Given the description of an element on the screen output the (x, y) to click on. 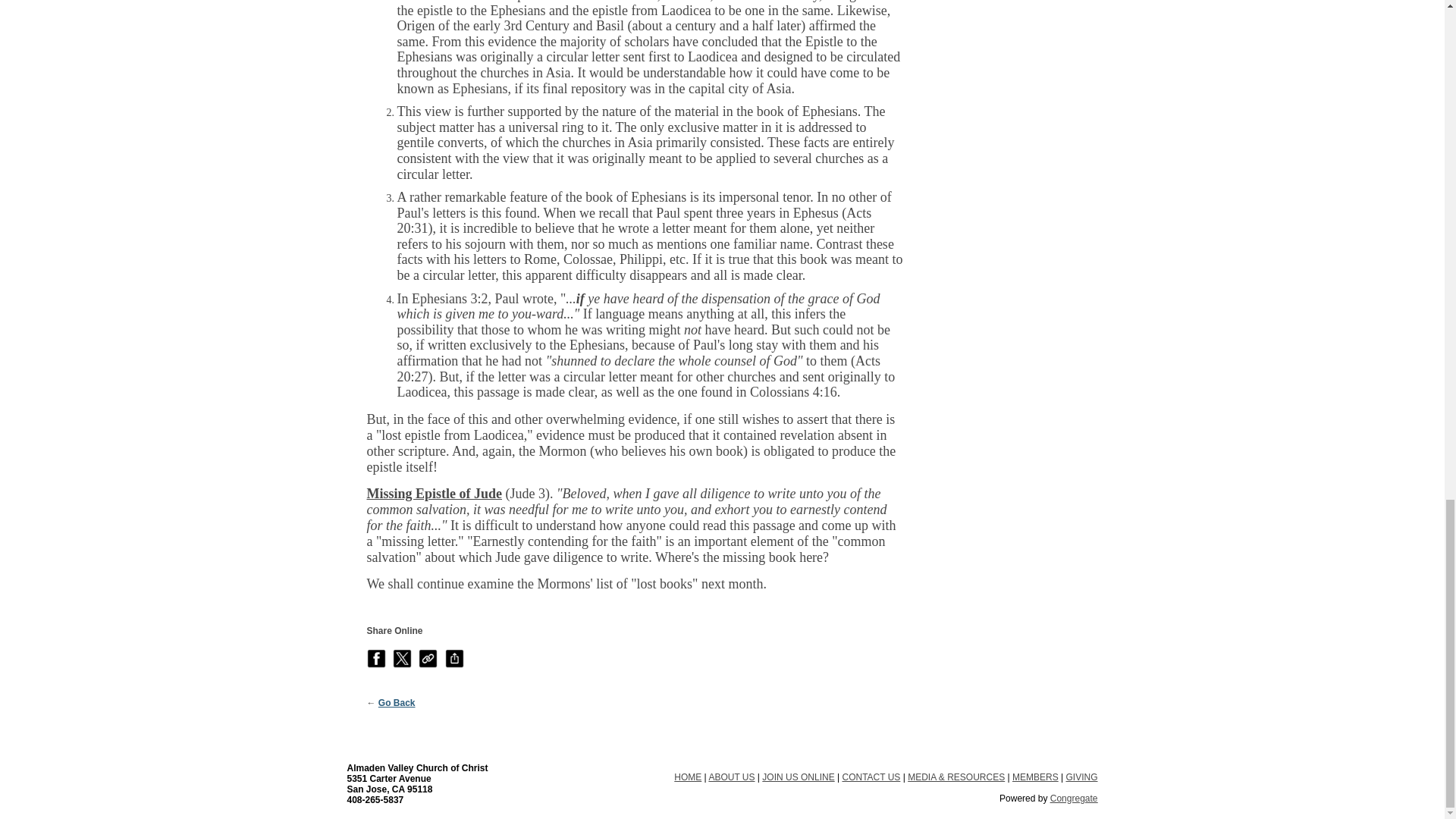
Share (454, 658)
Copy (428, 658)
Facebook (375, 658)
Twitter (402, 658)
